Given the description of an element on the screen output the (x, y) to click on. 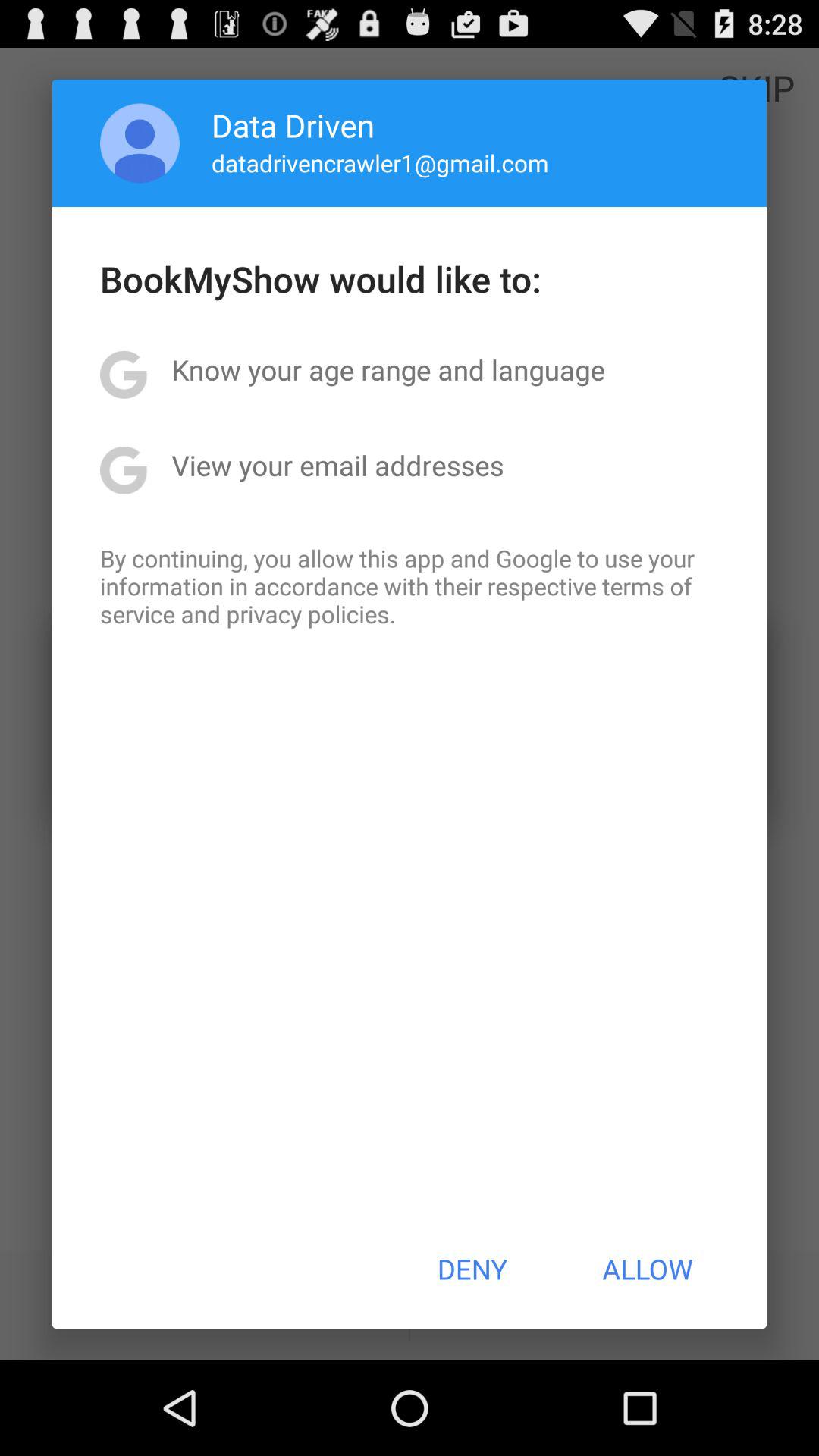
choose know your age (388, 369)
